Given the description of an element on the screen output the (x, y) to click on. 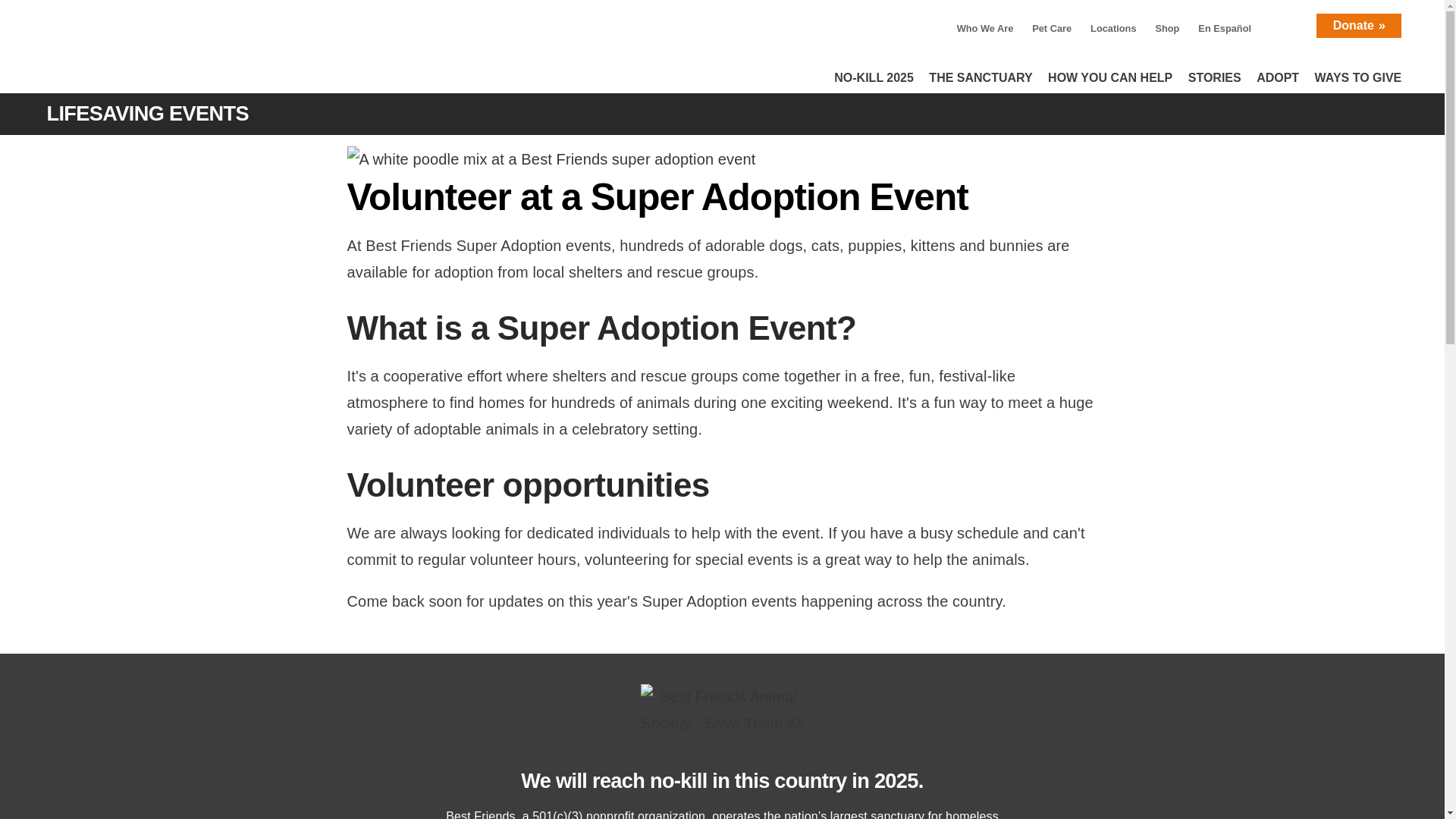
THE SANCTUARY (980, 72)
Shop (1166, 28)
Home (187, 51)
Search Icon (1288, 23)
STORIES (1214, 72)
ADOPT (1277, 72)
Donate (1358, 25)
WAYS TO GIVE (1357, 72)
Pet Care (1051, 28)
Who We Are (984, 28)
Search Icon (1288, 23)
NO-KILL 2025 (874, 72)
HOW YOU CAN HELP (1109, 72)
LIFESAVING EVENTS (173, 113)
